Given the description of an element on the screen output the (x, y) to click on. 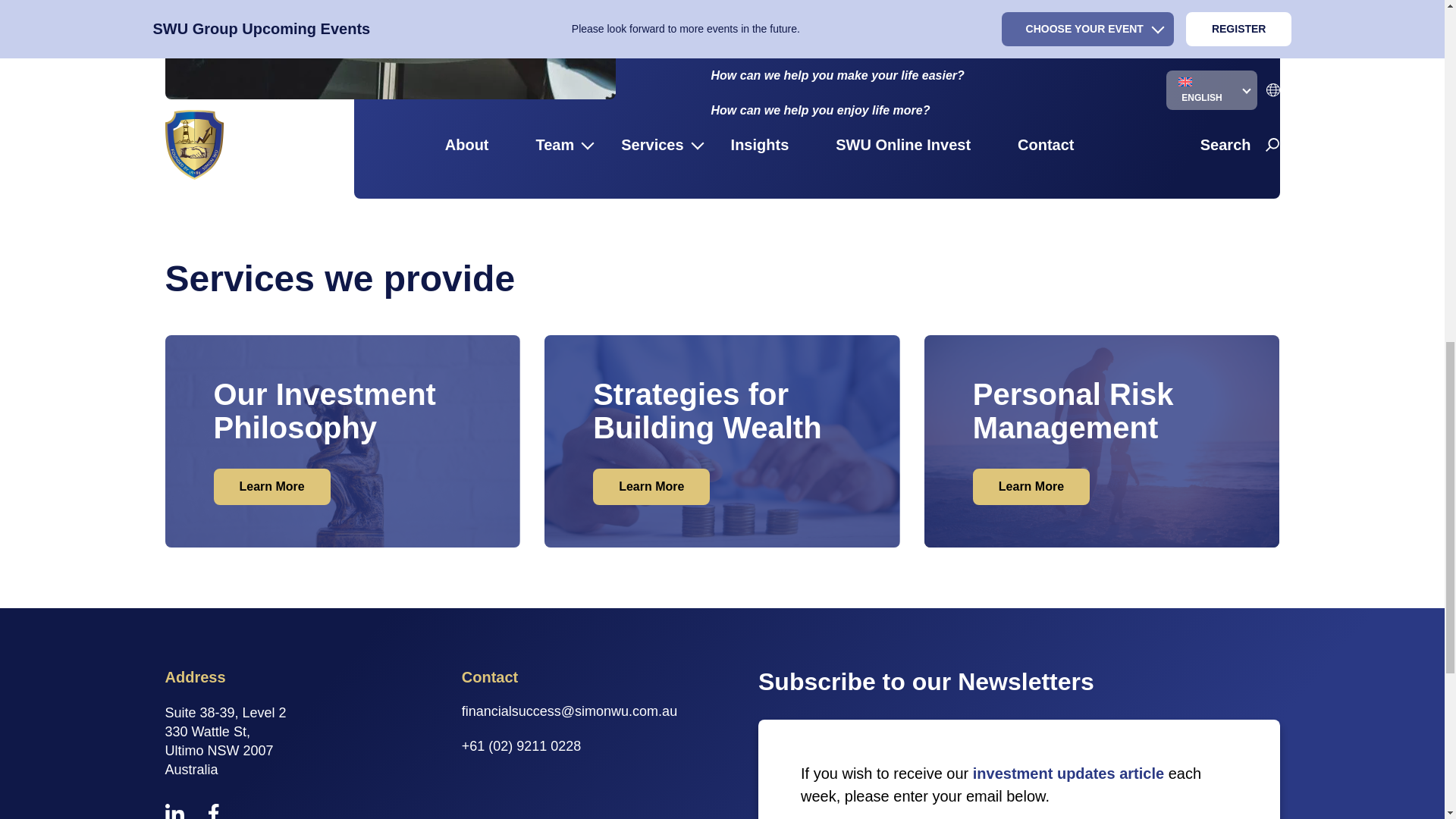
Learn More (651, 486)
Learn More (272, 486)
Learn More (1030, 486)
